Given the description of an element on the screen output the (x, y) to click on. 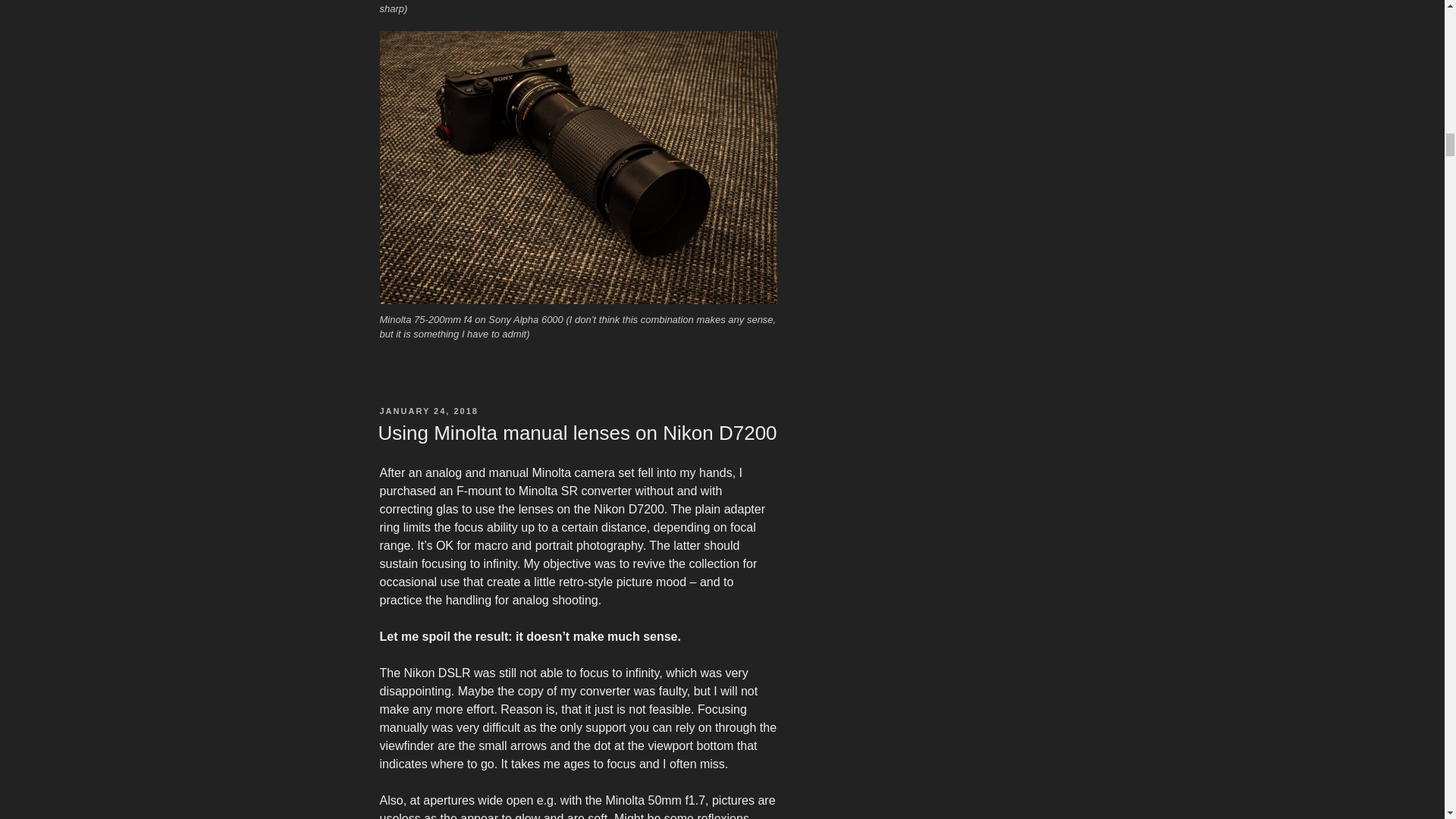
Using Minolta manual lenses on Nikon D7200 (576, 432)
JANUARY 24, 2018 (427, 410)
